Given the description of an element on the screen output the (x, y) to click on. 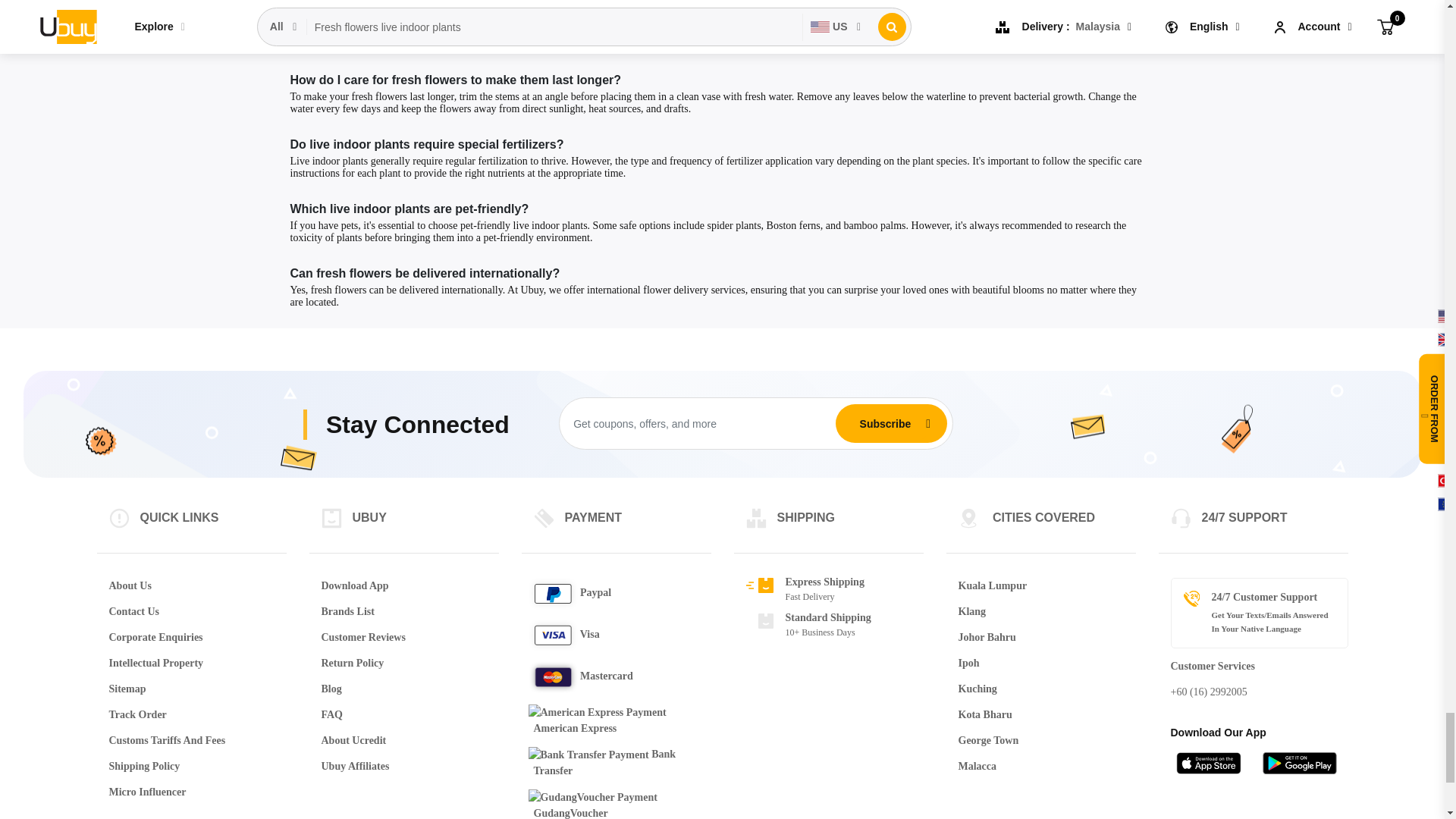
Subscribe (885, 422)
